Given the description of an element on the screen output the (x, y) to click on. 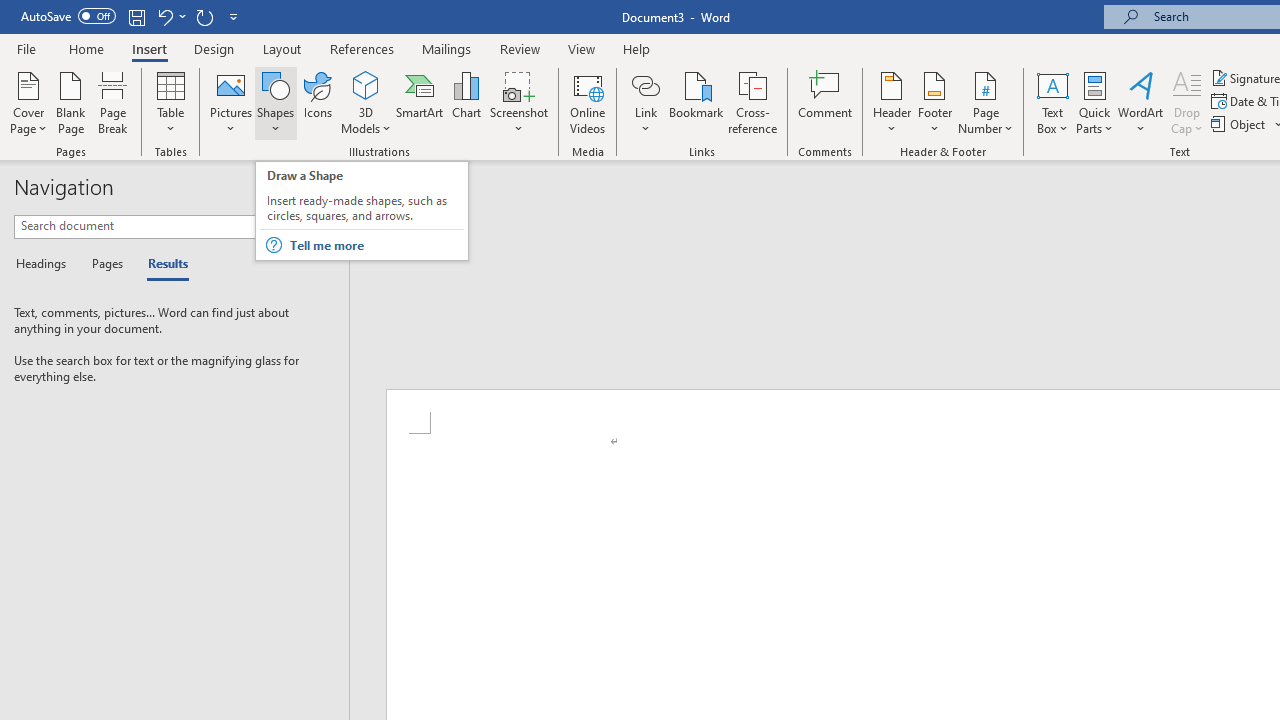
Undo New Page (164, 15)
Footer (934, 102)
Link (645, 102)
Header (891, 102)
